Given the description of an element on the screen output the (x, y) to click on. 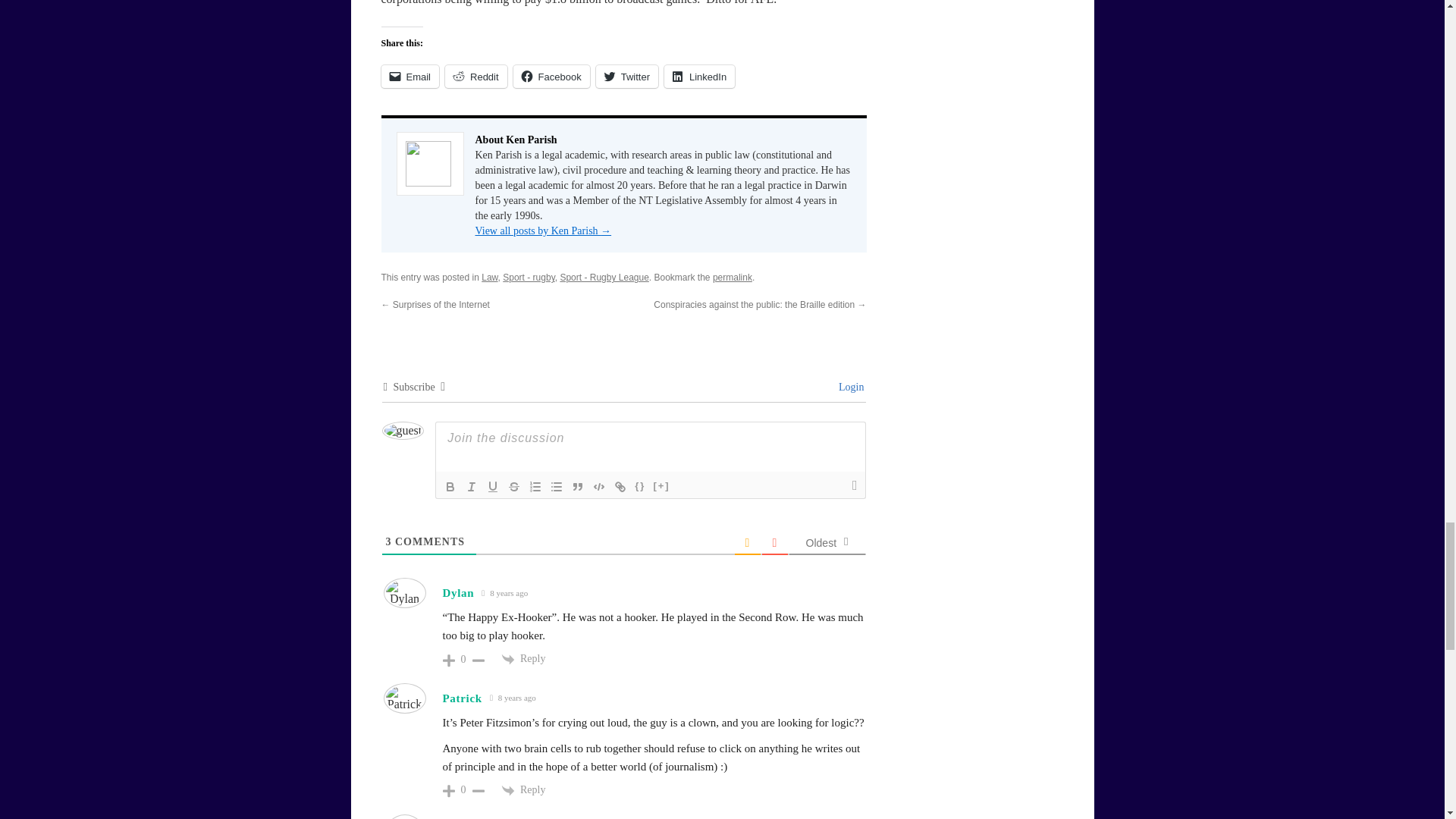
Twitter (626, 76)
permalink (732, 276)
Underline (492, 486)
Click to share on Reddit (475, 76)
Bold (450, 486)
Click to share on Twitter (626, 76)
Sport - rugby (528, 276)
Click to share on LinkedIn (699, 76)
Facebook (551, 76)
Click to share on Facebook (551, 76)
Italic (471, 486)
Reddit (475, 76)
LinkedIn (699, 76)
Law (489, 276)
Click to email a link to a friend (409, 76)
